Given the description of an element on the screen output the (x, y) to click on. 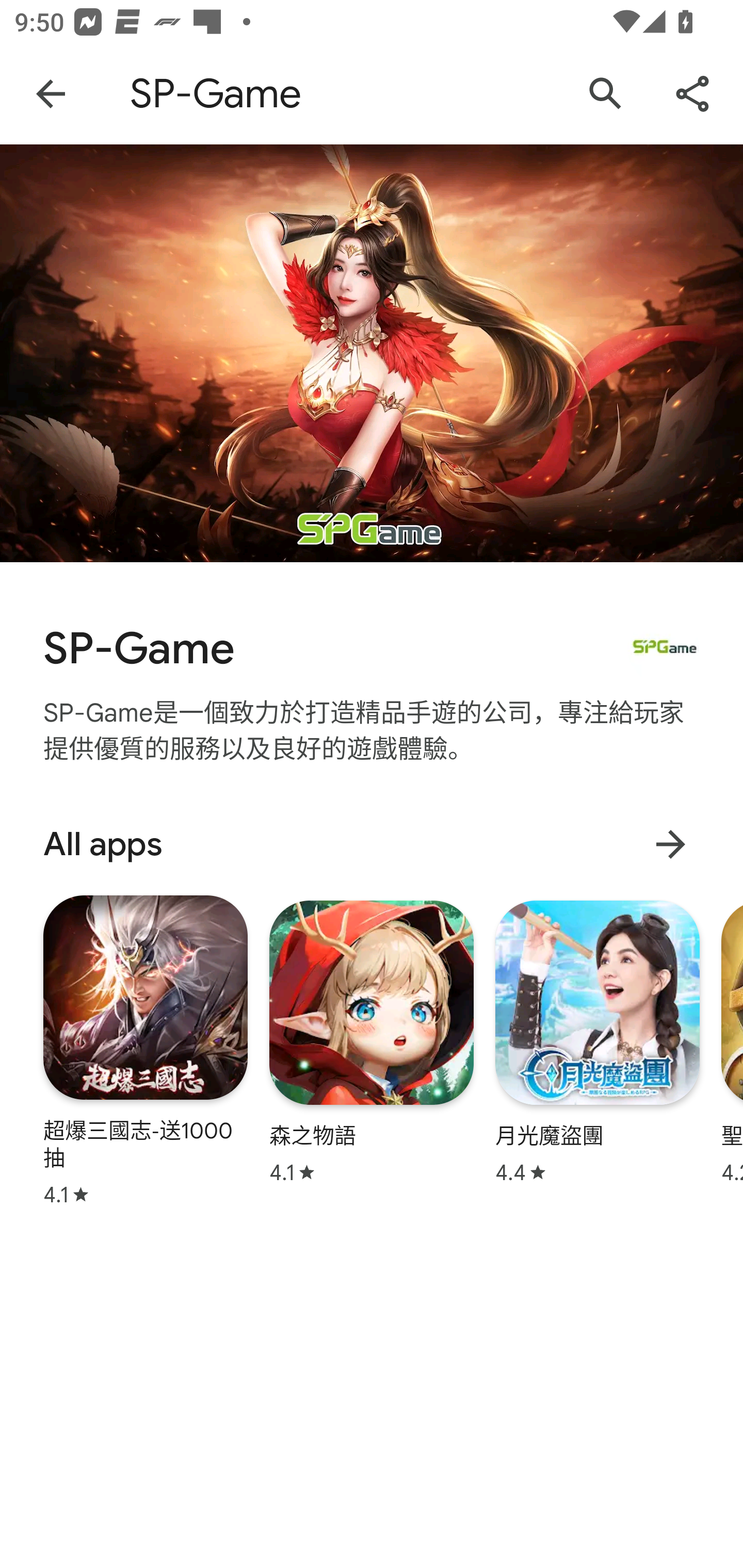
Navigate up (50, 93)
Search Google Play (605, 93)
Share (692, 93)
All apps More results for All apps (371, 844)
More results for All apps (670, 844)
超爆三國志-送1000抽
Star rating: 4.1
 (145, 1050)
森之物語
Star rating: 4.1
 (371, 1041)
月光魔盜團
Star rating: 4.4
 (597, 1041)
